Given the description of an element on the screen output the (x, y) to click on. 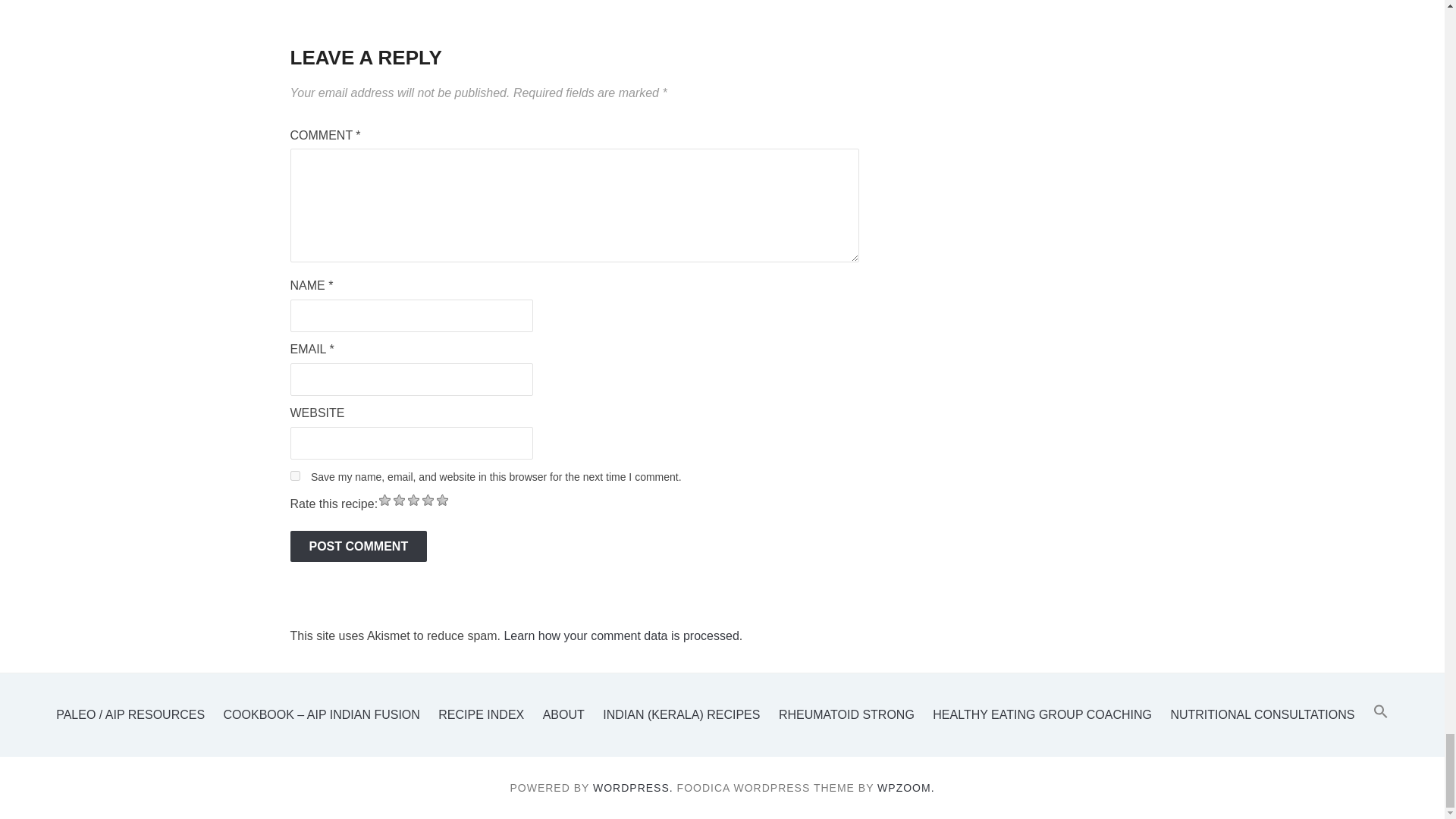
yes (294, 475)
Post Comment (357, 546)
